Given the description of an element on the screen output the (x, y) to click on. 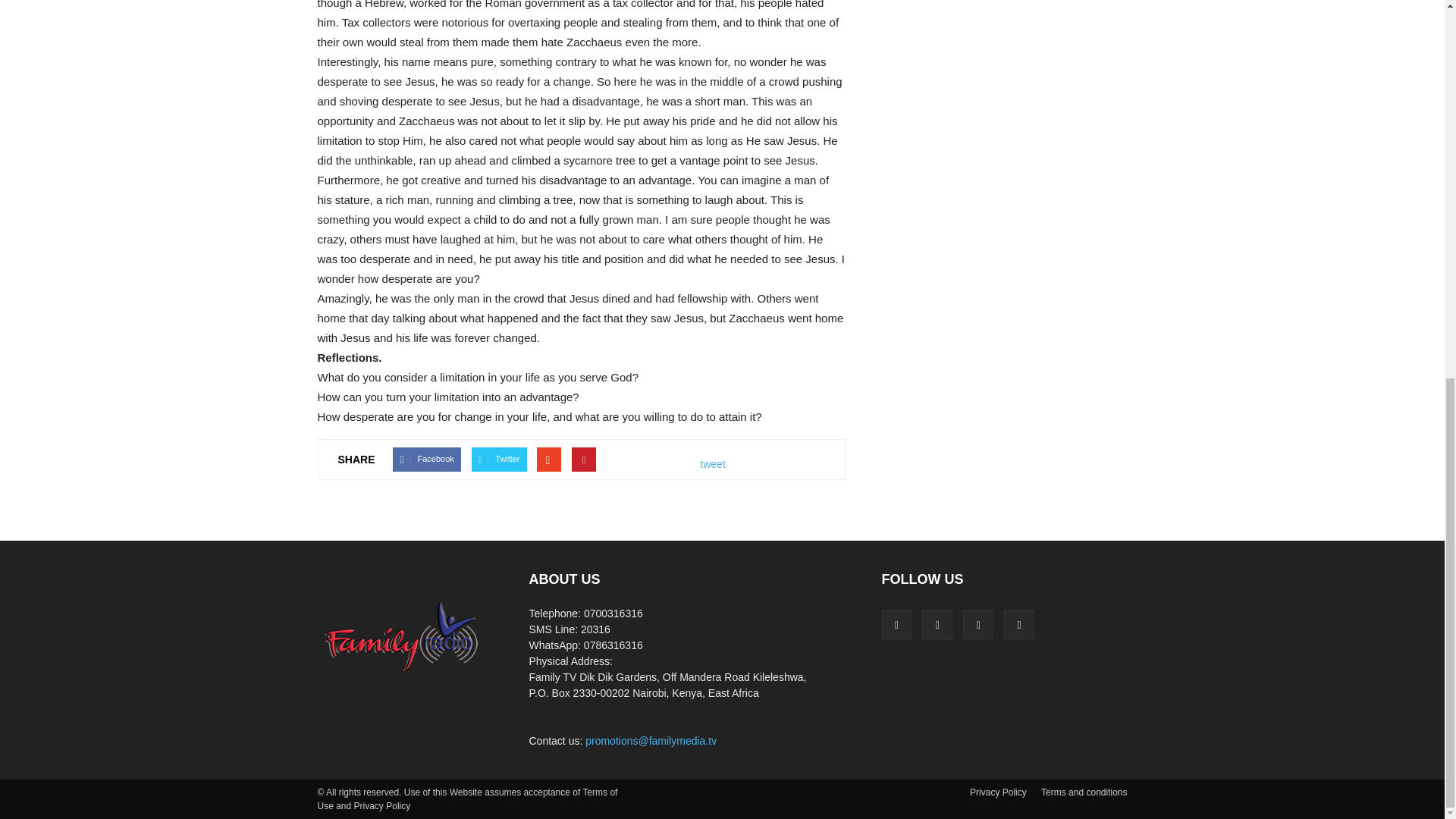
TBN FAMILY MEDIA (403, 636)
Facebook (895, 624)
